Given the description of an element on the screen output the (x, y) to click on. 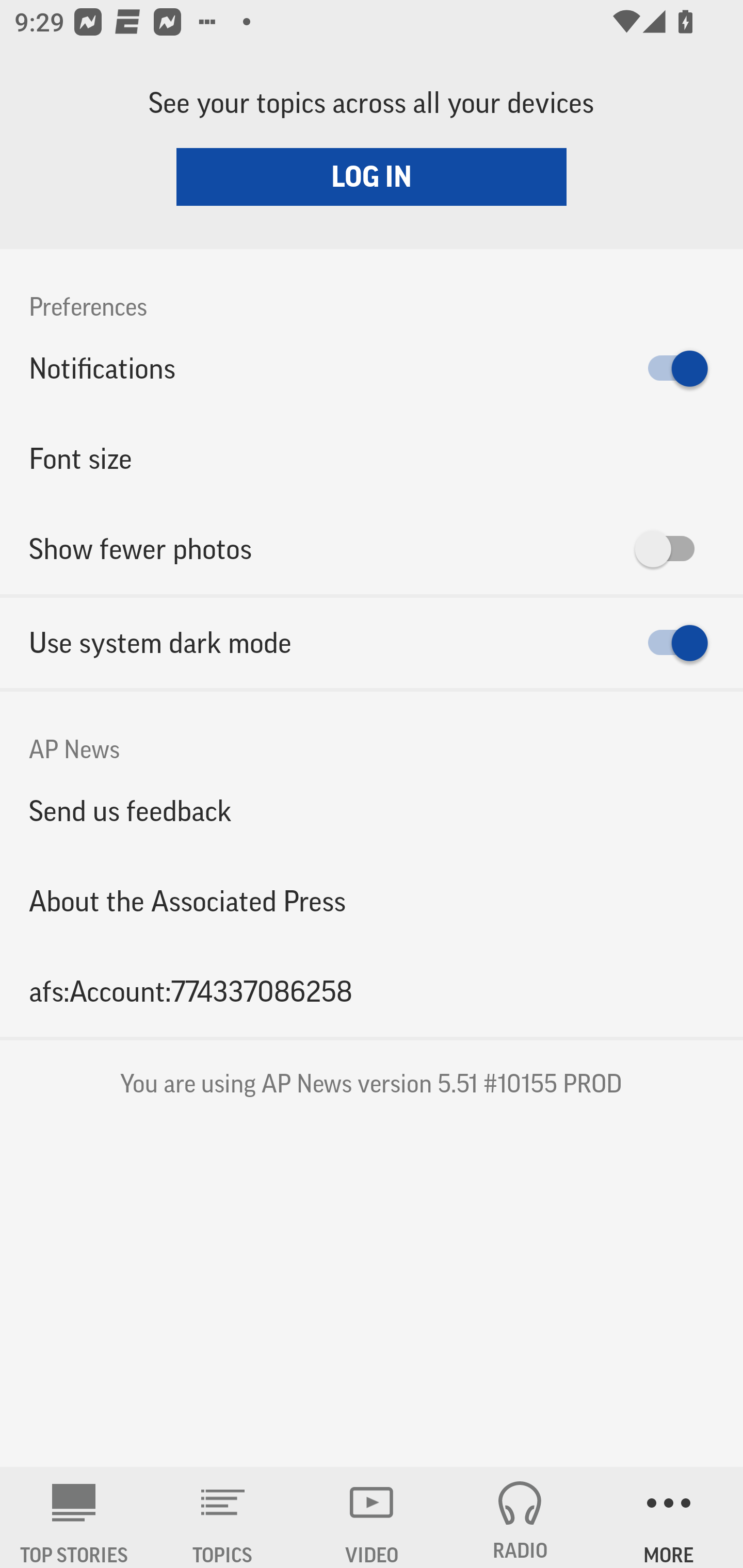
LOG IN (371, 176)
Notifications (371, 368)
Font size (371, 458)
Show fewer photos (371, 548)
Use system dark mode (371, 642)
Send us feedback (371, 810)
About the Associated Press (371, 901)
afs:Account:774337086258 (371, 991)
AP News TOP STORIES (74, 1517)
TOPICS (222, 1517)
VIDEO (371, 1517)
RADIO (519, 1517)
MORE (668, 1517)
